Given the description of an element on the screen output the (x, y) to click on. 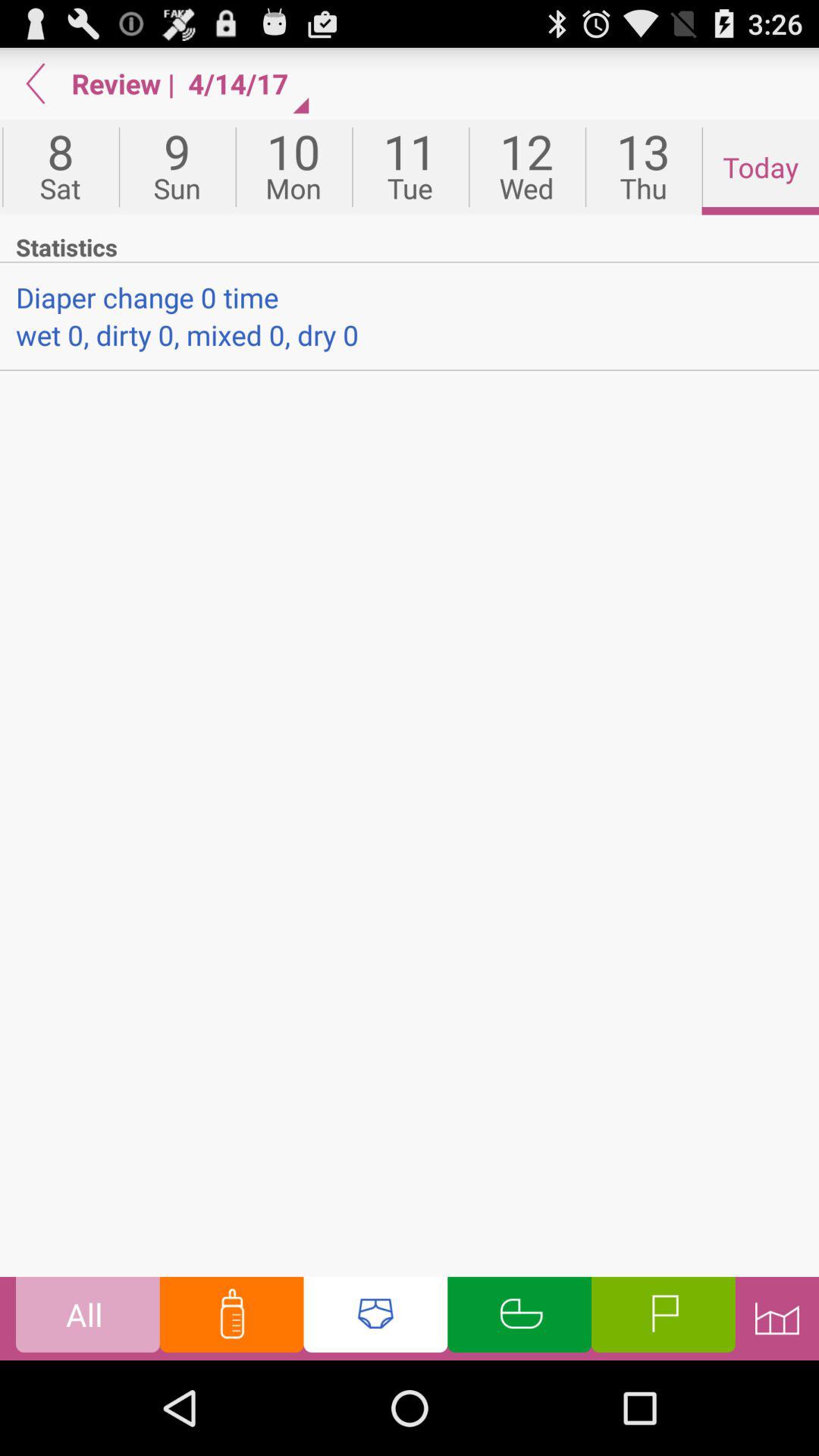
enter feeding time (231, 1318)
